Given the description of an element on the screen output the (x, y) to click on. 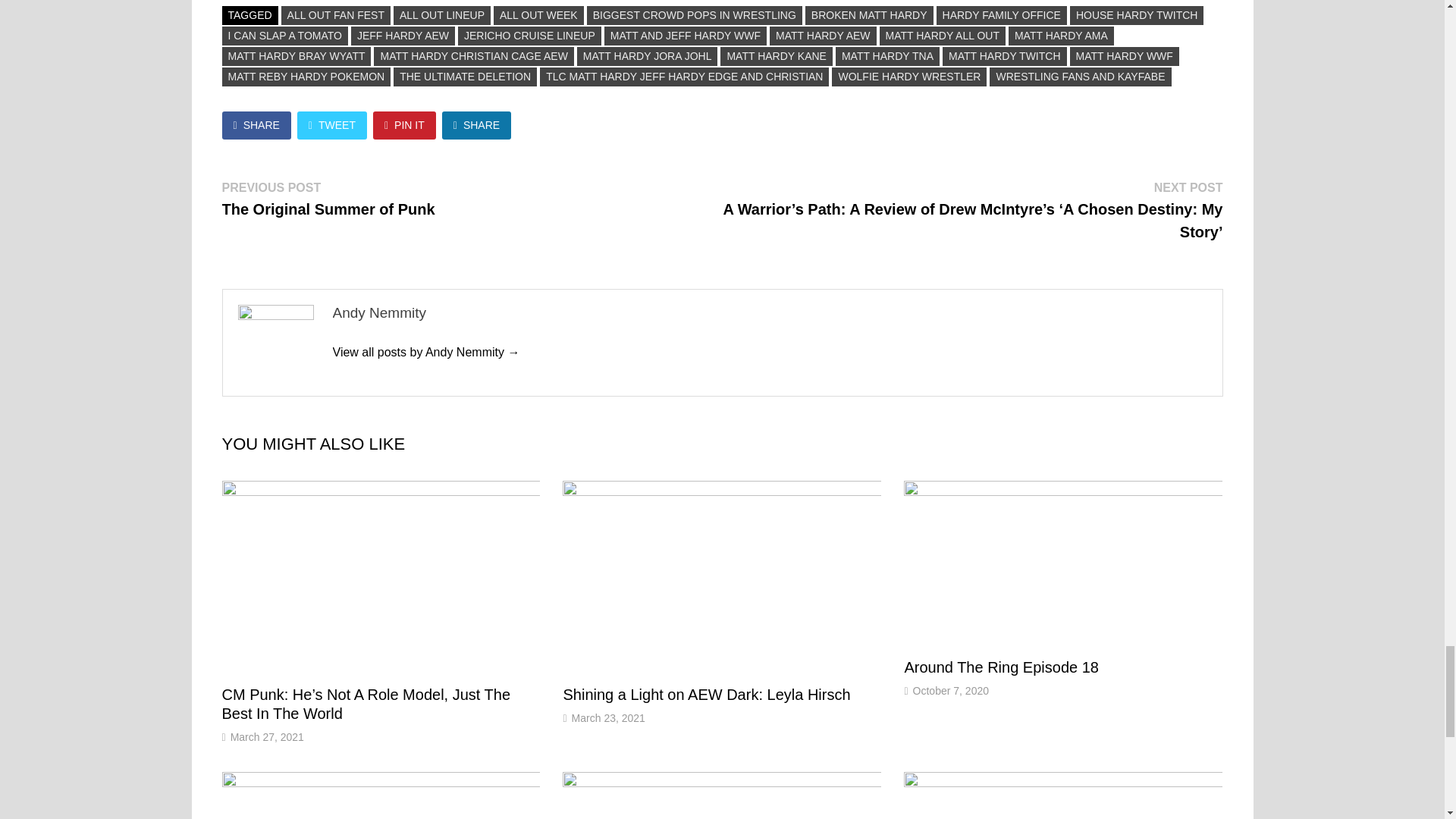
HARDY FAMILY OFFICE (1001, 15)
ALL OUT FAN FEST (335, 15)
BIGGEST CROWD POPS IN WRESTLING (694, 15)
Andy Nemmity (425, 351)
Shining a Light on AEW Dark: Leyla Hirsch (706, 694)
ALL OUT LINEUP (441, 15)
Around The Ring Episode 18 (1000, 667)
ALL OUT WEEK (538, 15)
I CAN SLAP A TOMATO (284, 35)
HOUSE HARDY TWITCH (1137, 15)
BROKEN MATT HARDY (869, 15)
